Given the description of an element on the screen output the (x, y) to click on. 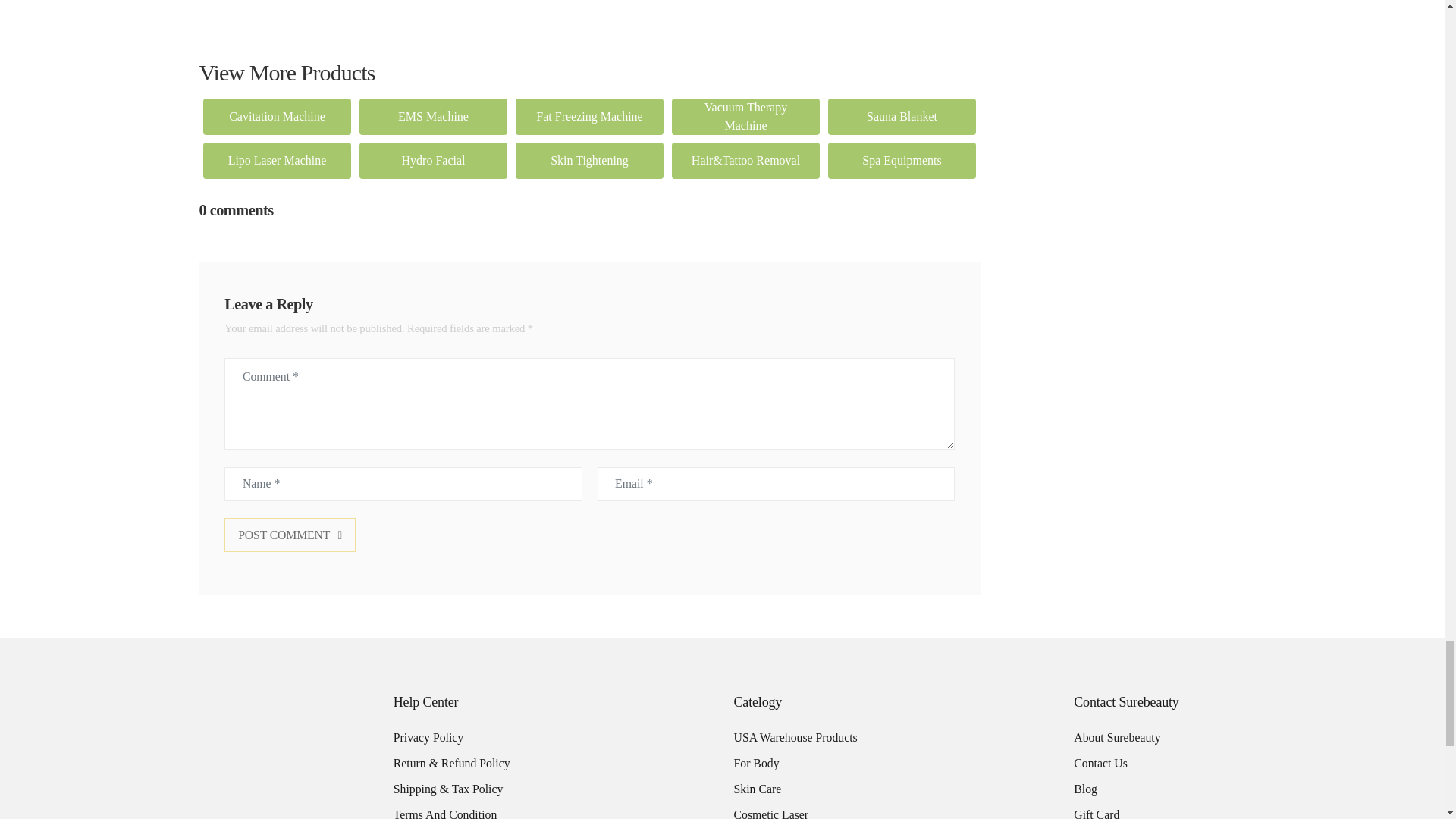
Sauna Blanket (902, 116)
Lipo Laser Machine (277, 160)
Fat Freezing Machine (589, 116)
Vacuum Therapy Machine (746, 116)
Cavitation Machine (277, 116)
EMS Machine (433, 116)
Hydro Facial (433, 160)
